Given the description of an element on the screen output the (x, y) to click on. 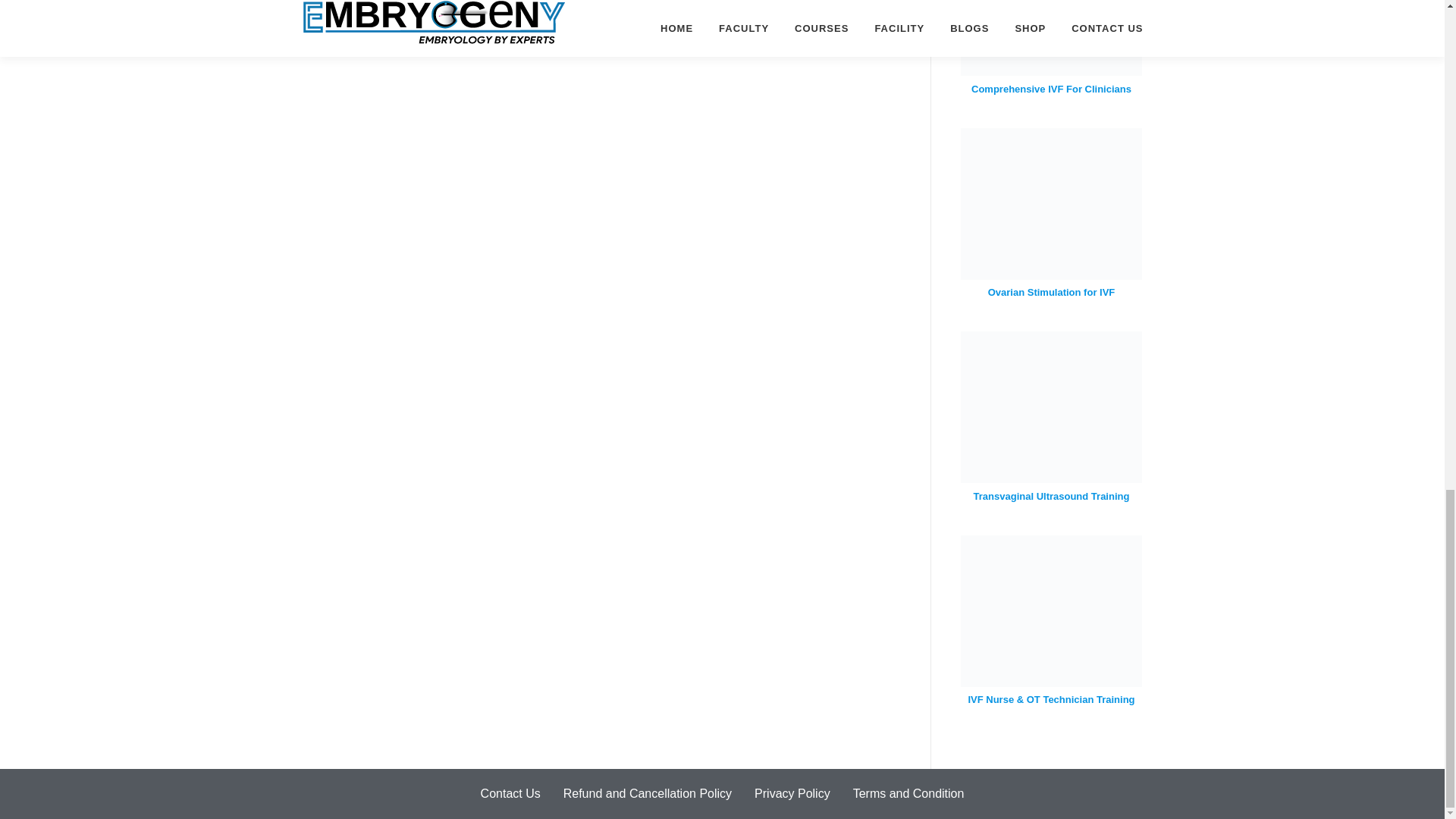
Privacy Policy (791, 793)
Terms and Condition (908, 793)
Contact Us (509, 793)
Refund and Cancellation Policy (646, 793)
